Given the description of an element on the screen output the (x, y) to click on. 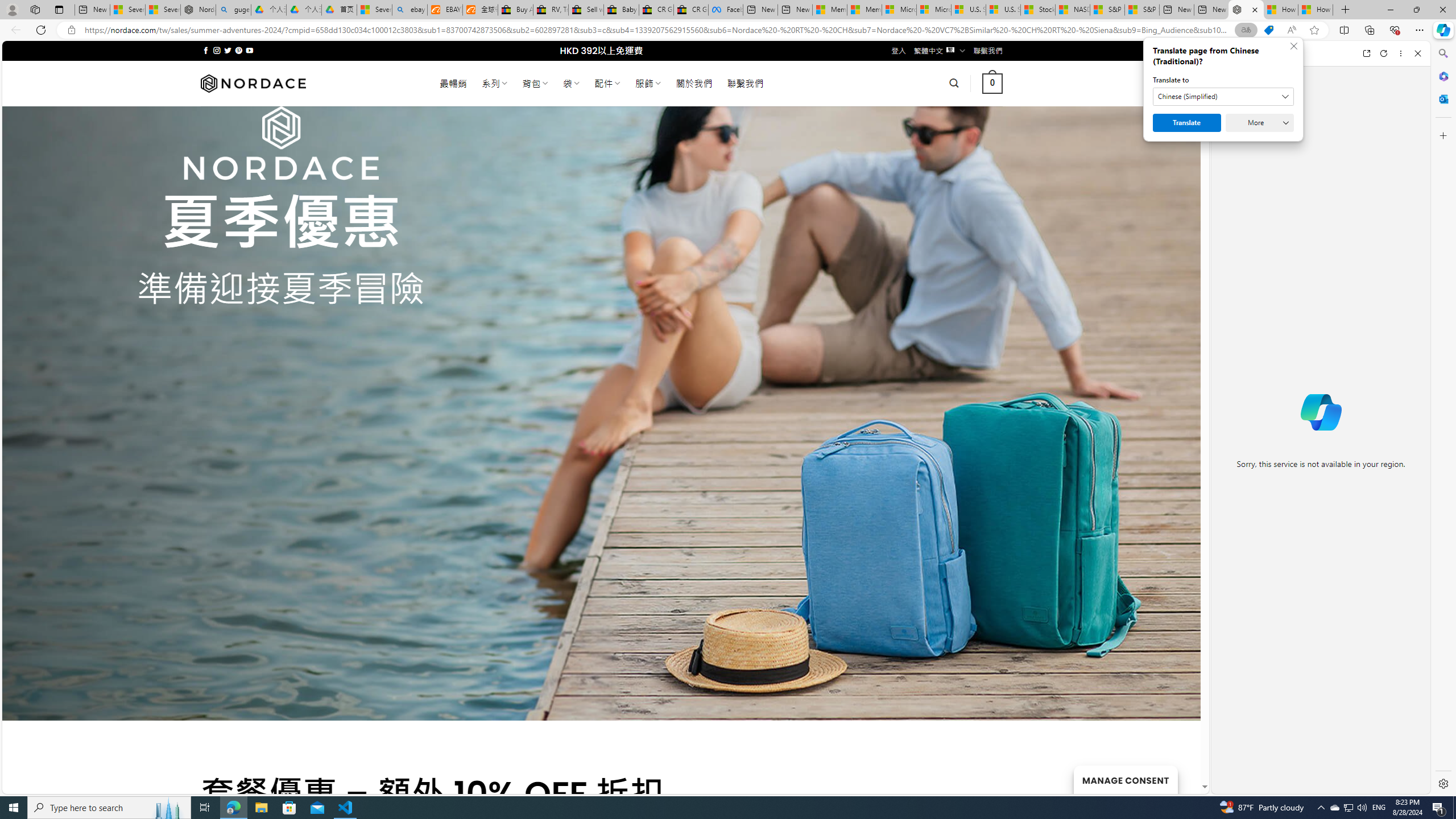
How to Use a Monitor With Your Closed Laptop (1315, 9)
Open link in new tab (1366, 53)
RV, Trailer & Camper Steps & Ladders for sale | eBay (550, 9)
MANAGE CONSENT (1125, 779)
